Given the description of an element on the screen output the (x, y) to click on. 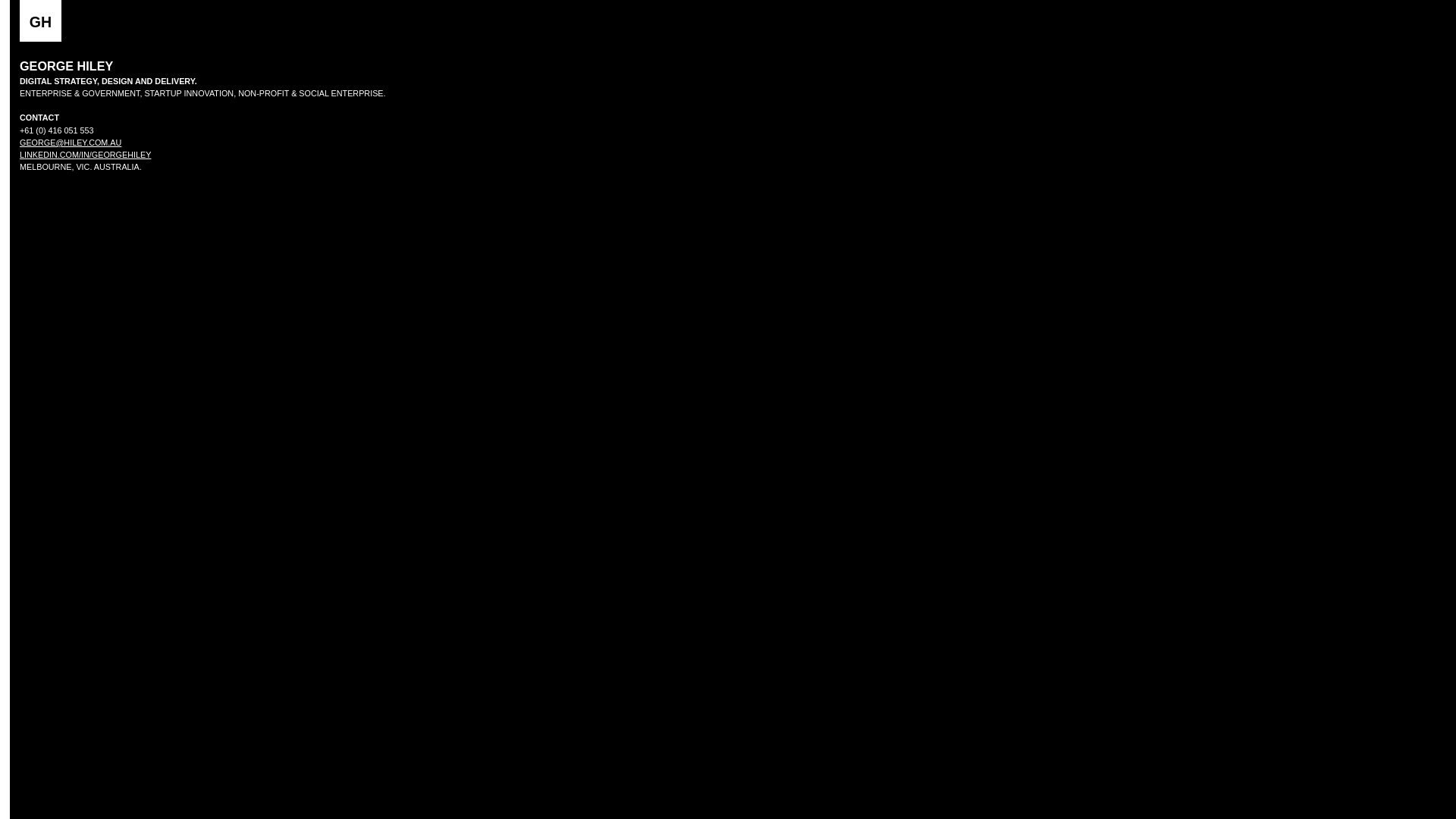
GEORGE@HILEY.COM.AU Element type: text (70, 142)
LINKEDIN.COM/IN/GEORGEHILEY Element type: text (84, 154)
